Given the description of an element on the screen output the (x, y) to click on. 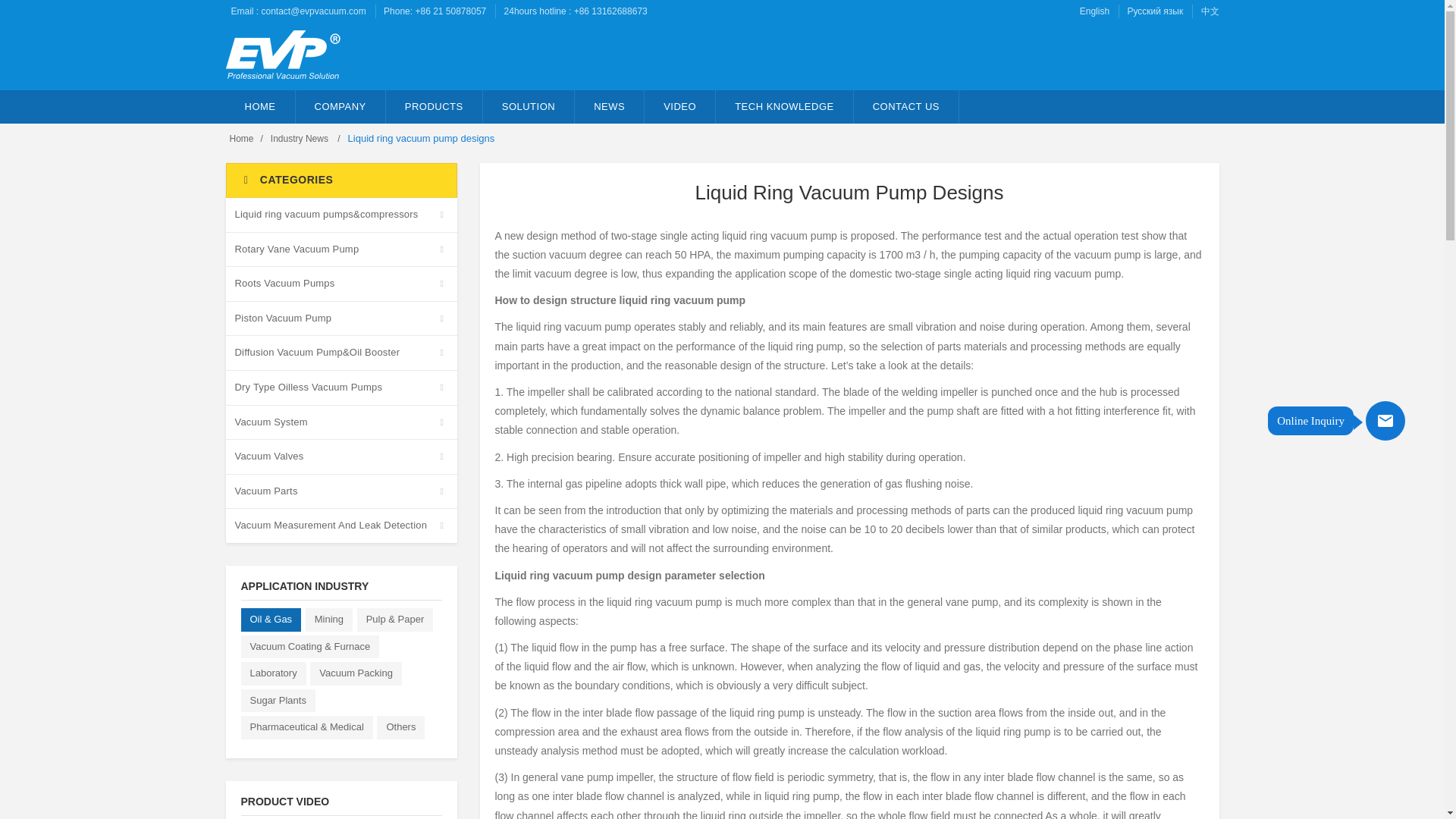
English (1094, 10)
HOME (260, 106)
PRODUCTS (434, 106)
NEWS (610, 106)
CONTACT US (906, 106)
TECH KNOWLEDGE (784, 106)
COMPANY (340, 106)
Online Inquiry (1385, 420)
Industry News (300, 138)
VIDEO (680, 106)
SOLUTION (529, 106)
Home (240, 138)
Rotary Vane Vacuum Pump (341, 249)
